Given the description of an element on the screen output the (x, y) to click on. 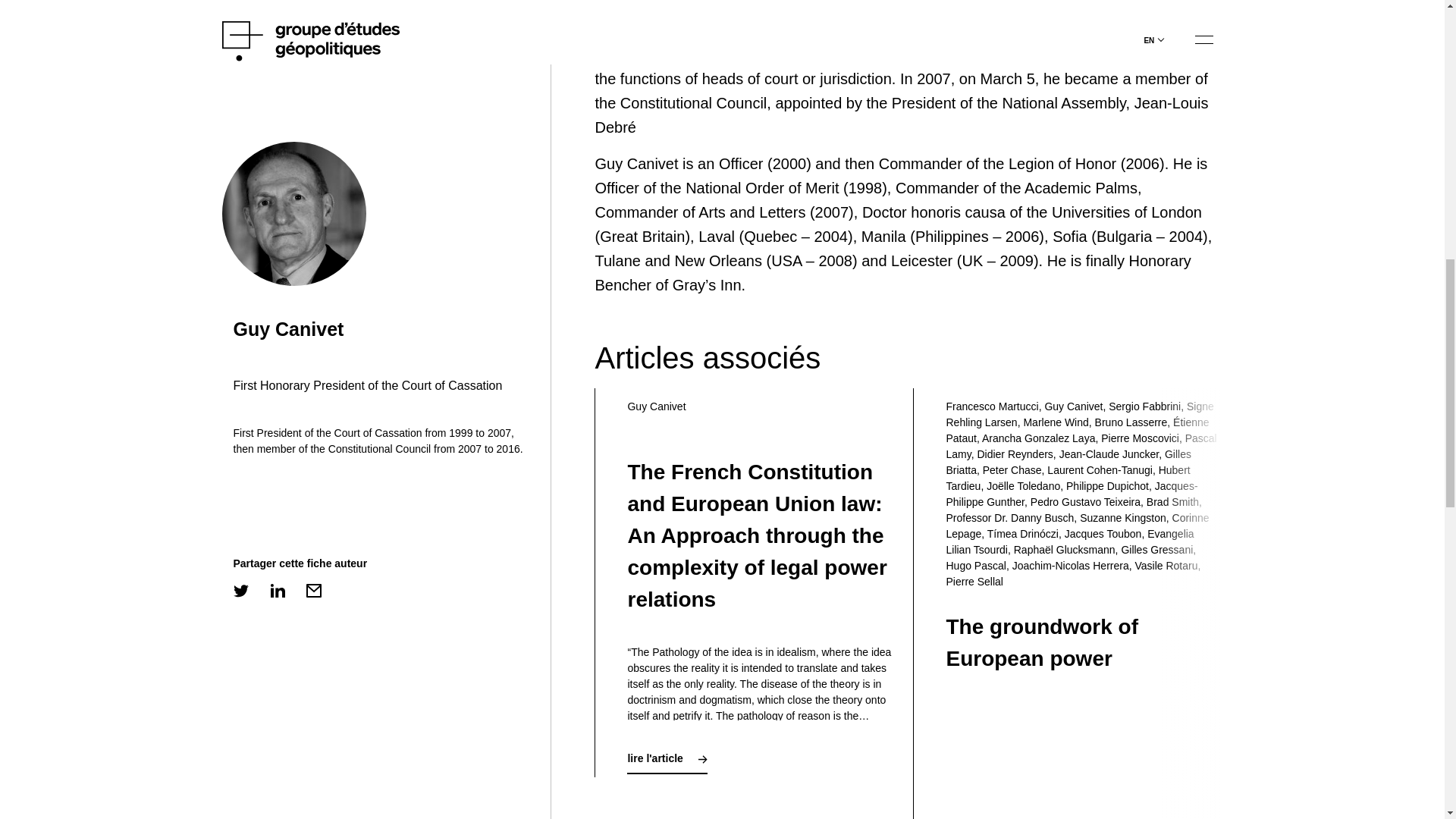
Guy Canivet (1072, 406)
Signe Rehling Larsen (1078, 414)
Sergio Fabbrini (1144, 406)
Francesco Martucci (991, 406)
Marlene Wind (1055, 422)
lire l'article (666, 758)
Guy Canivet (656, 406)
Bruno Lasserre (1130, 422)
